Given the description of an element on the screen output the (x, y) to click on. 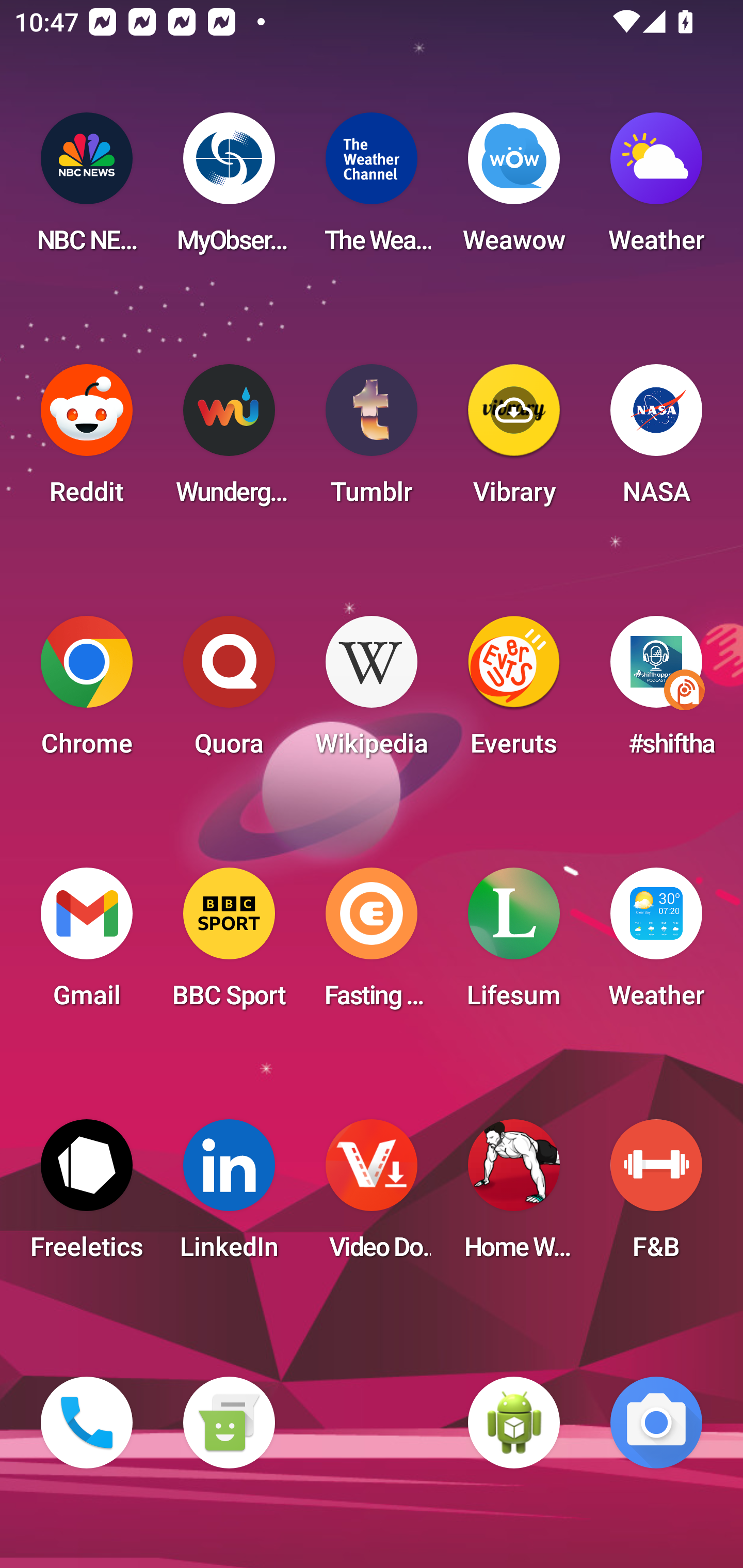
NBC NEWS (86, 188)
MyObservatory (228, 188)
The Weather Channel (371, 188)
Weawow (513, 188)
Weather (656, 188)
Reddit (86, 440)
Wunderground (228, 440)
Tumblr (371, 440)
Vibrary (513, 440)
NASA (656, 440)
Chrome (86, 692)
Quora (228, 692)
Wikipedia (371, 692)
Everuts (513, 692)
#shifthappens in the Digital Workplace Podcast (656, 692)
Gmail (86, 943)
BBC Sport (228, 943)
Fasting Coach (371, 943)
Lifesum (513, 943)
Weather (656, 943)
Freeletics (86, 1195)
LinkedIn (228, 1195)
Video Downloader & Ace Player (371, 1195)
Home Workout (513, 1195)
F&B (656, 1195)
Phone (86, 1422)
Messaging (228, 1422)
WebView Browser Tester (513, 1422)
Camera (656, 1422)
